Given the description of an element on the screen output the (x, y) to click on. 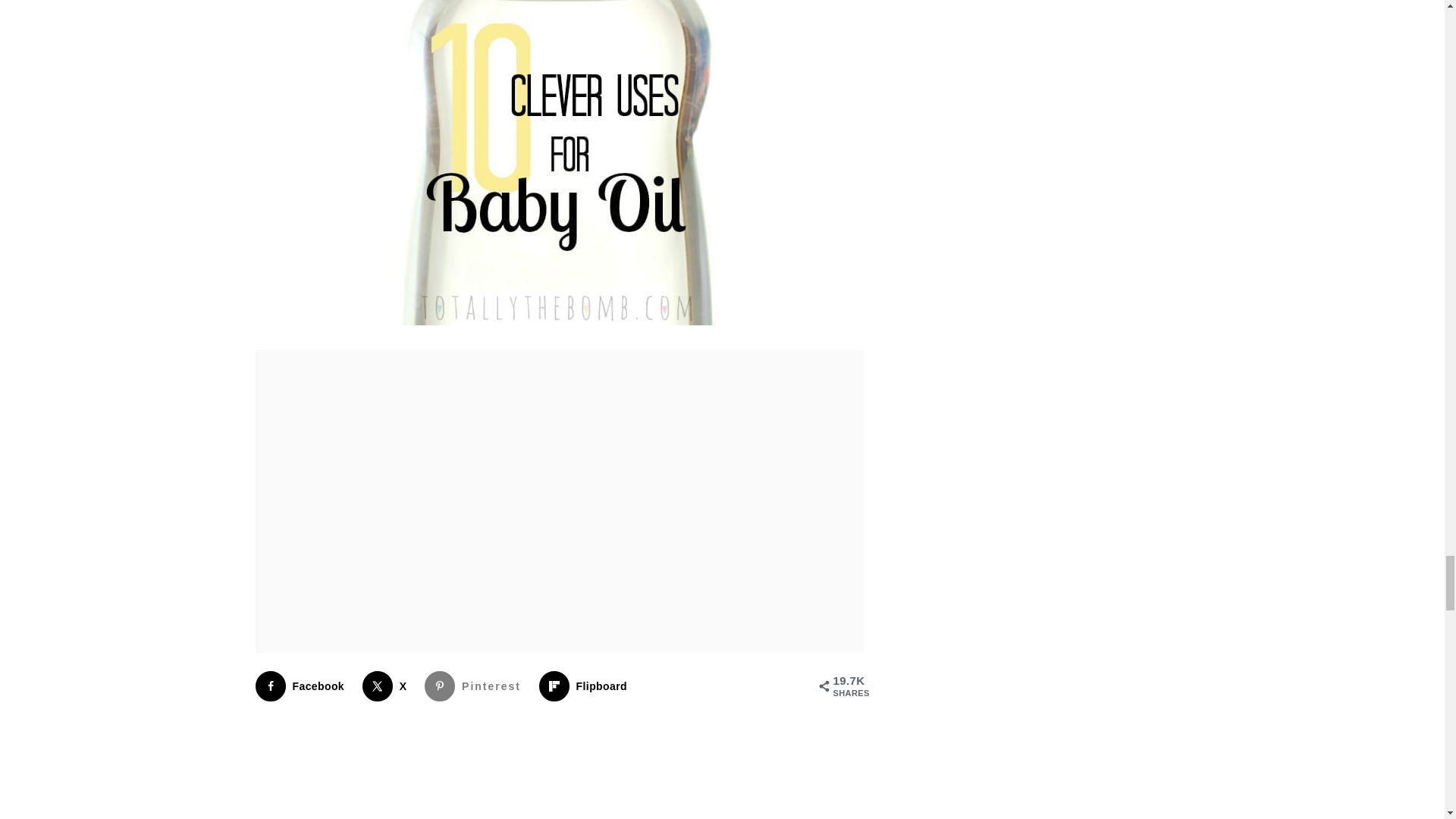
Share on Flipboard (585, 685)
Save to Pinterest (476, 685)
Share on Facebook (302, 685)
Share on X (387, 685)
